Given the description of an element on the screen output the (x, y) to click on. 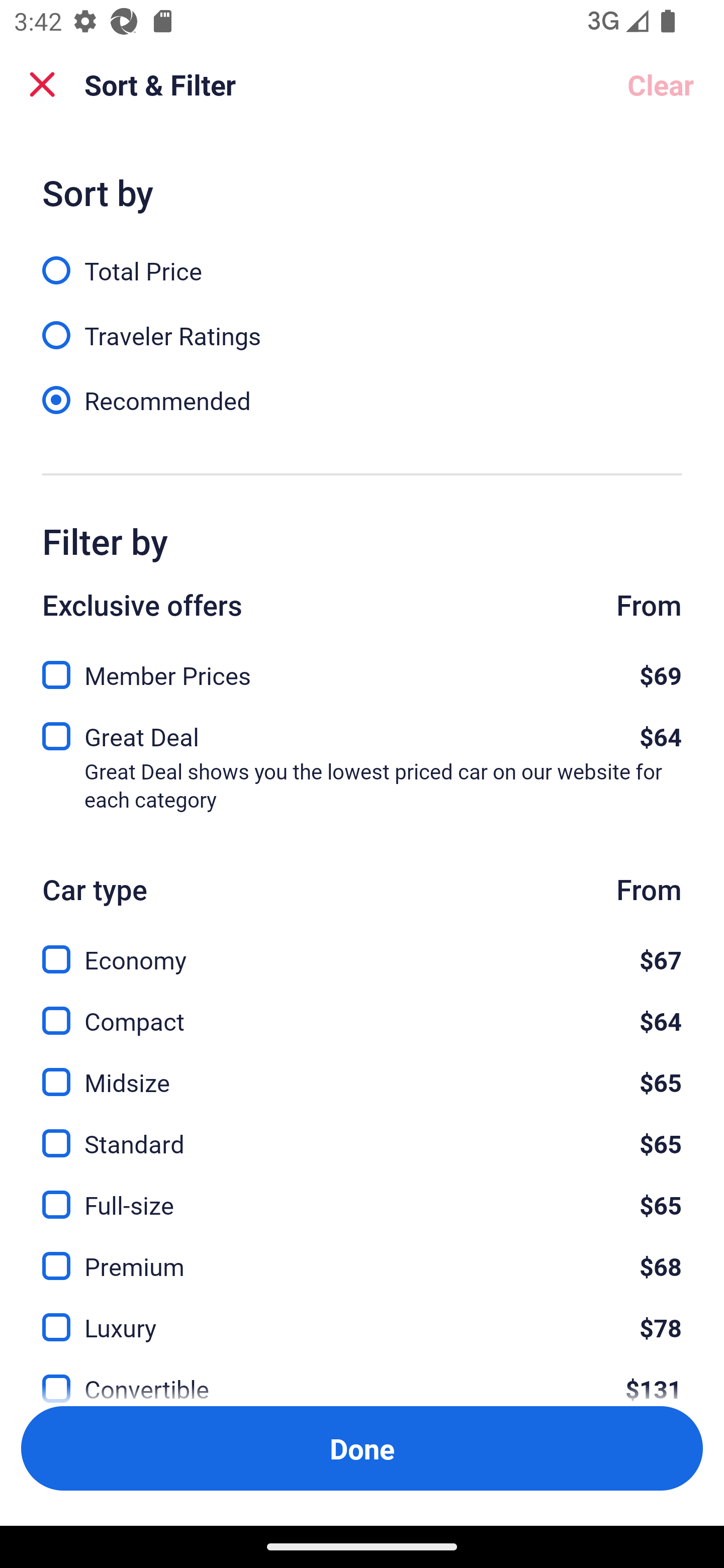
Close Sort and Filter (42, 84)
Clear (660, 84)
Total Price (361, 259)
Traveler Ratings (361, 324)
Member Prices, $69 Member Prices $69 (361, 669)
Economy, $67 Economy $67 (361, 947)
Compact, $64 Compact $64 (361, 1008)
Midsize, $65 Midsize $65 (361, 1070)
Standard, $65 Standard $65 (361, 1132)
Full-size, $65 Full-size $65 (361, 1193)
Premium, $68 Premium $68 (361, 1254)
Luxury, $78 Luxury $78 (361, 1315)
Convertible, $131 Convertible $131 (361, 1376)
Apply and close Sort and Filter Done (361, 1448)
